Given the description of an element on the screen output the (x, y) to click on. 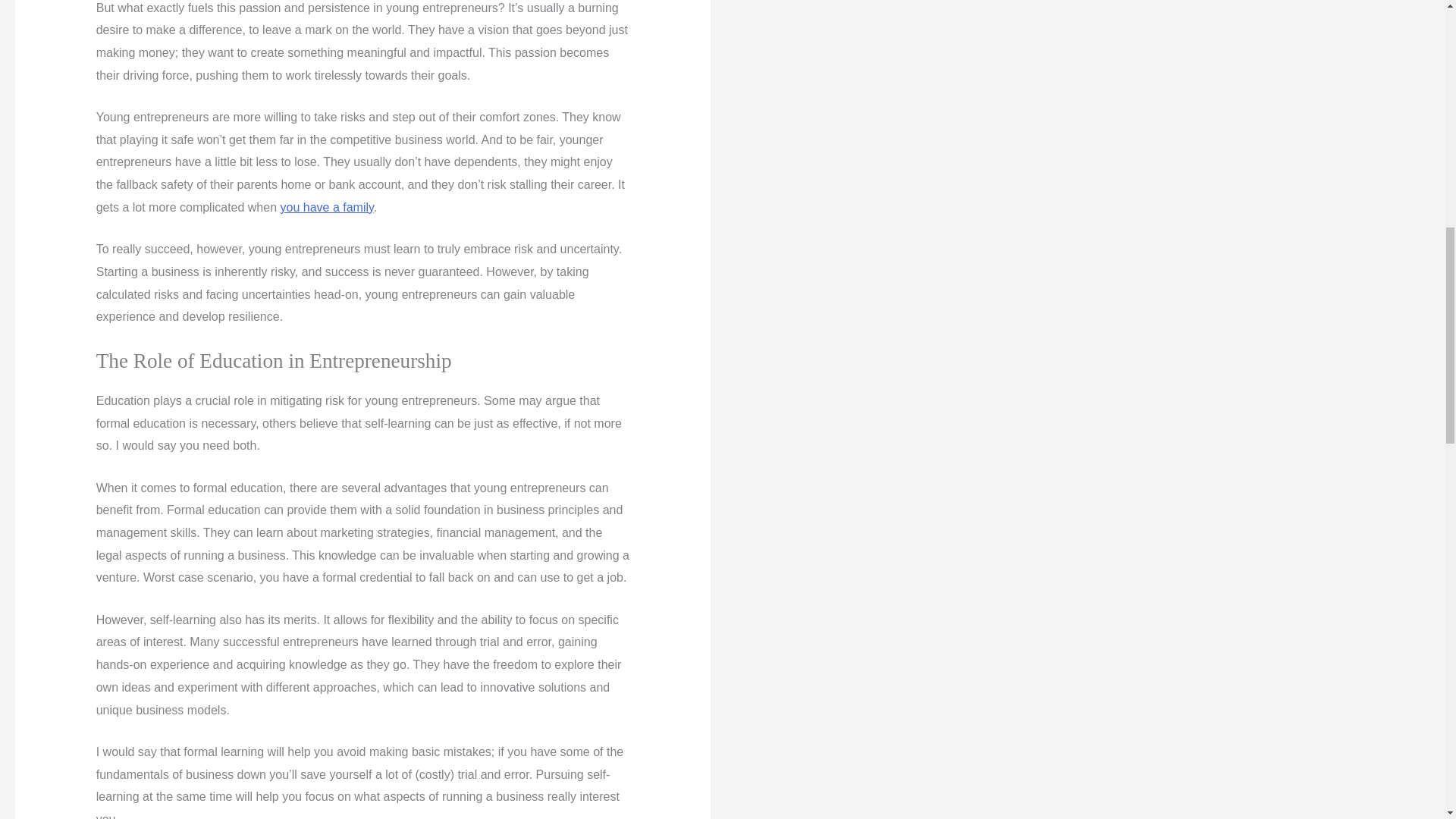
you have a family (327, 206)
